Given the description of an element on the screen output the (x, y) to click on. 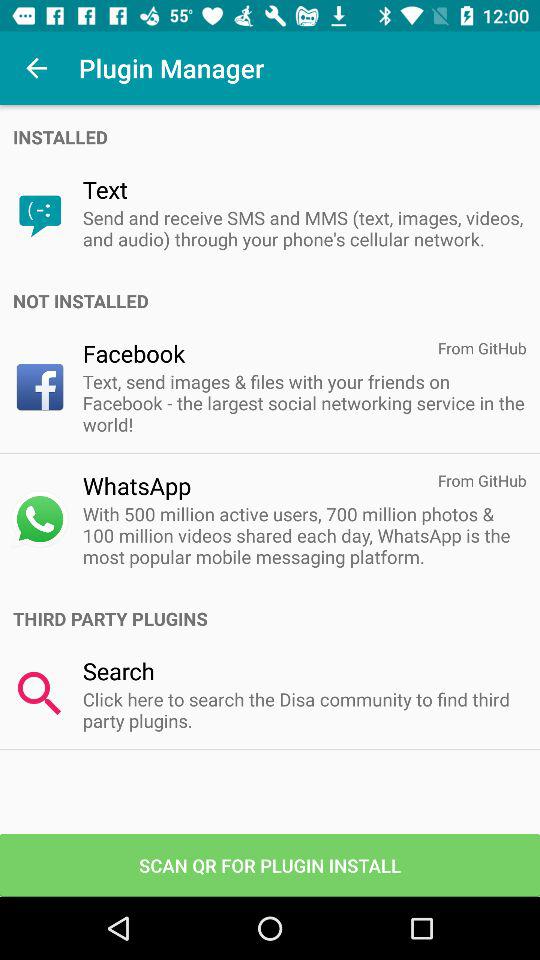
choose the with 500 million icon (304, 535)
